Given the description of an element on the screen output the (x, y) to click on. 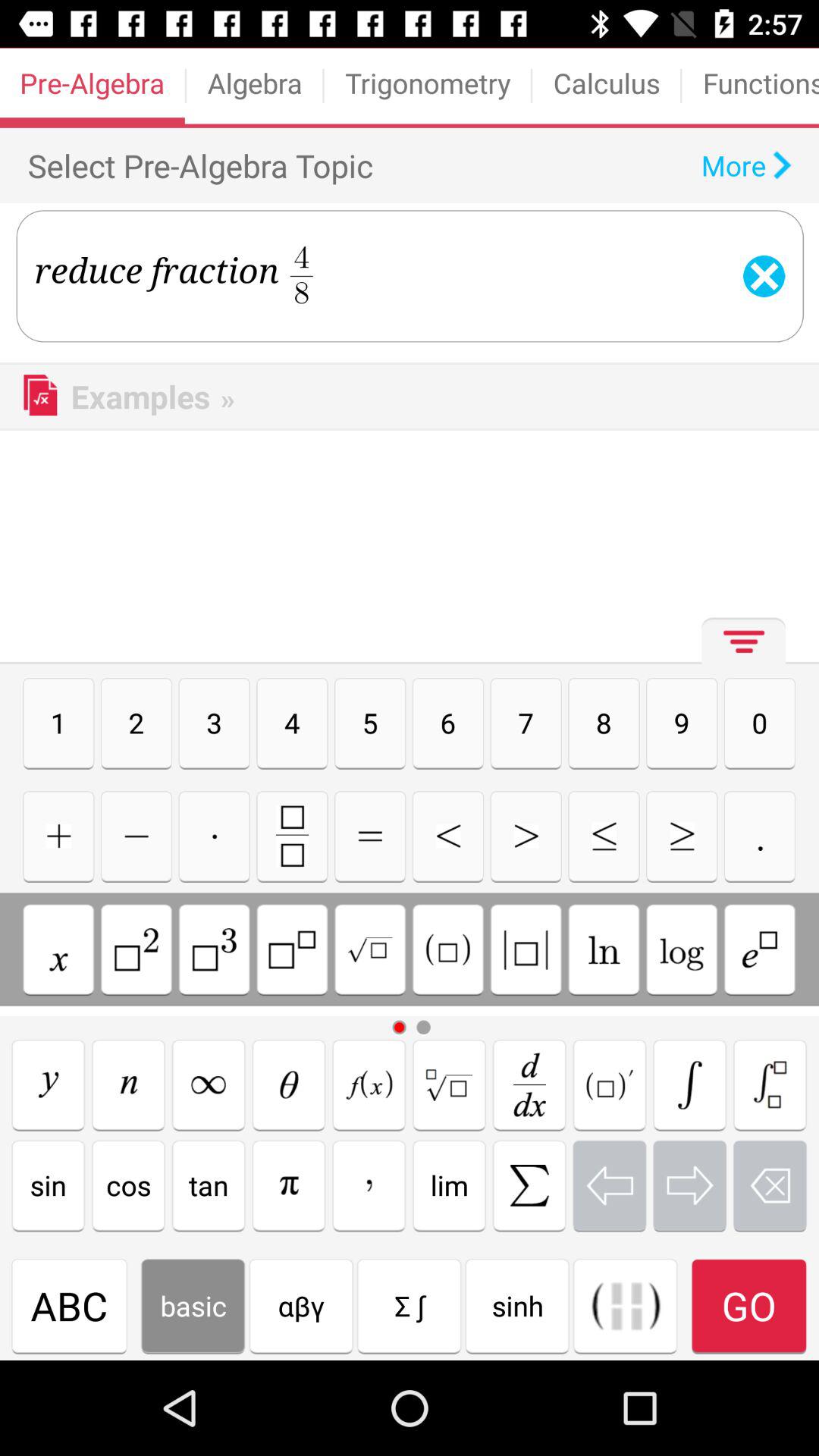
select option (369, 1084)
